Given the description of an element on the screen output the (x, y) to click on. 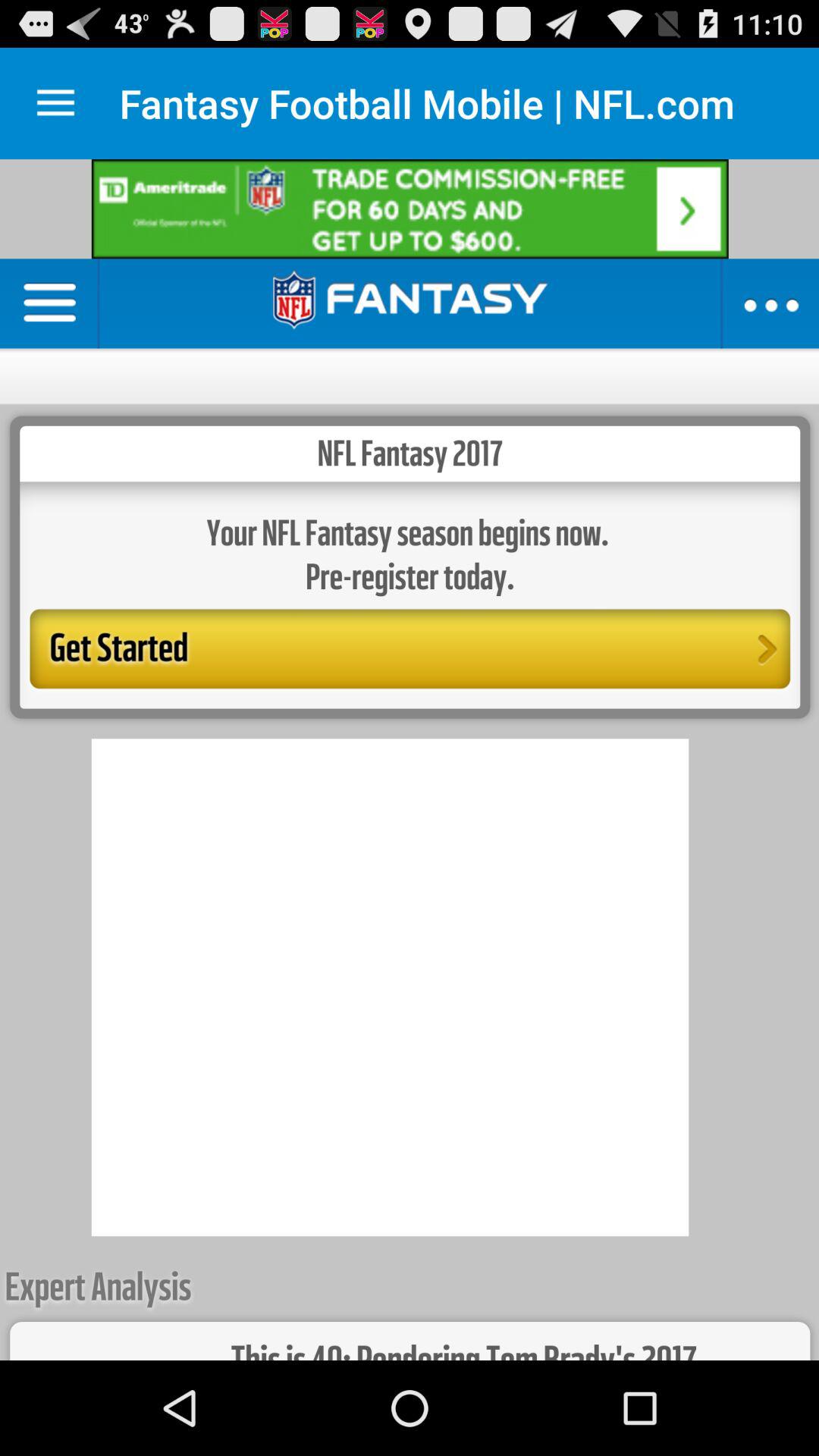
opsan (55, 103)
